Given the description of an element on the screen output the (x, y) to click on. 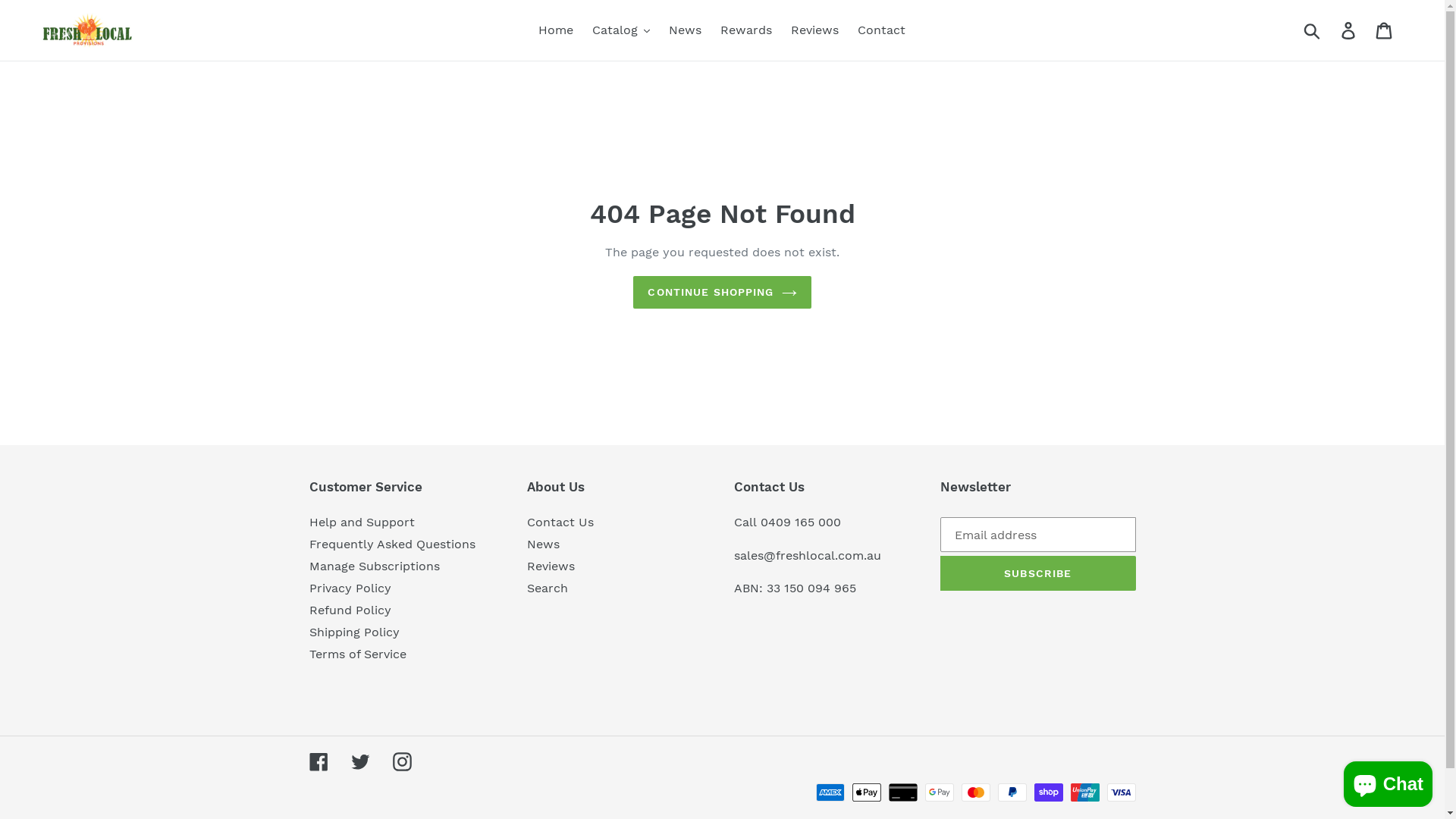
Instagram Element type: text (401, 761)
Reviews Element type: text (814, 29)
Shipping Policy Element type: text (354, 631)
Refund Policy Element type: text (350, 609)
SUBSCRIBE Element type: text (1037, 572)
News Element type: text (685, 29)
Manage Subscriptions Element type: text (374, 565)
Twitter Element type: text (359, 761)
Contact Element type: text (881, 29)
Submit Element type: text (1312, 30)
Contact Us Element type: text (560, 521)
Cart Element type: text (1384, 30)
CONTINUE SHOPPING Element type: text (721, 292)
Frequently Asked Questions Element type: text (392, 543)
News Element type: text (543, 543)
Log in Element type: text (1349, 30)
Shopify online store chat Element type: hover (1388, 780)
Help and Support Element type: text (361, 521)
Rewards Element type: text (745, 29)
Facebook Element type: text (318, 761)
Privacy Policy Element type: text (350, 587)
Reviews Element type: text (550, 565)
Home Element type: text (555, 29)
Terms of Service Element type: text (357, 653)
Search Element type: text (547, 587)
